Given the description of an element on the screen output the (x, y) to click on. 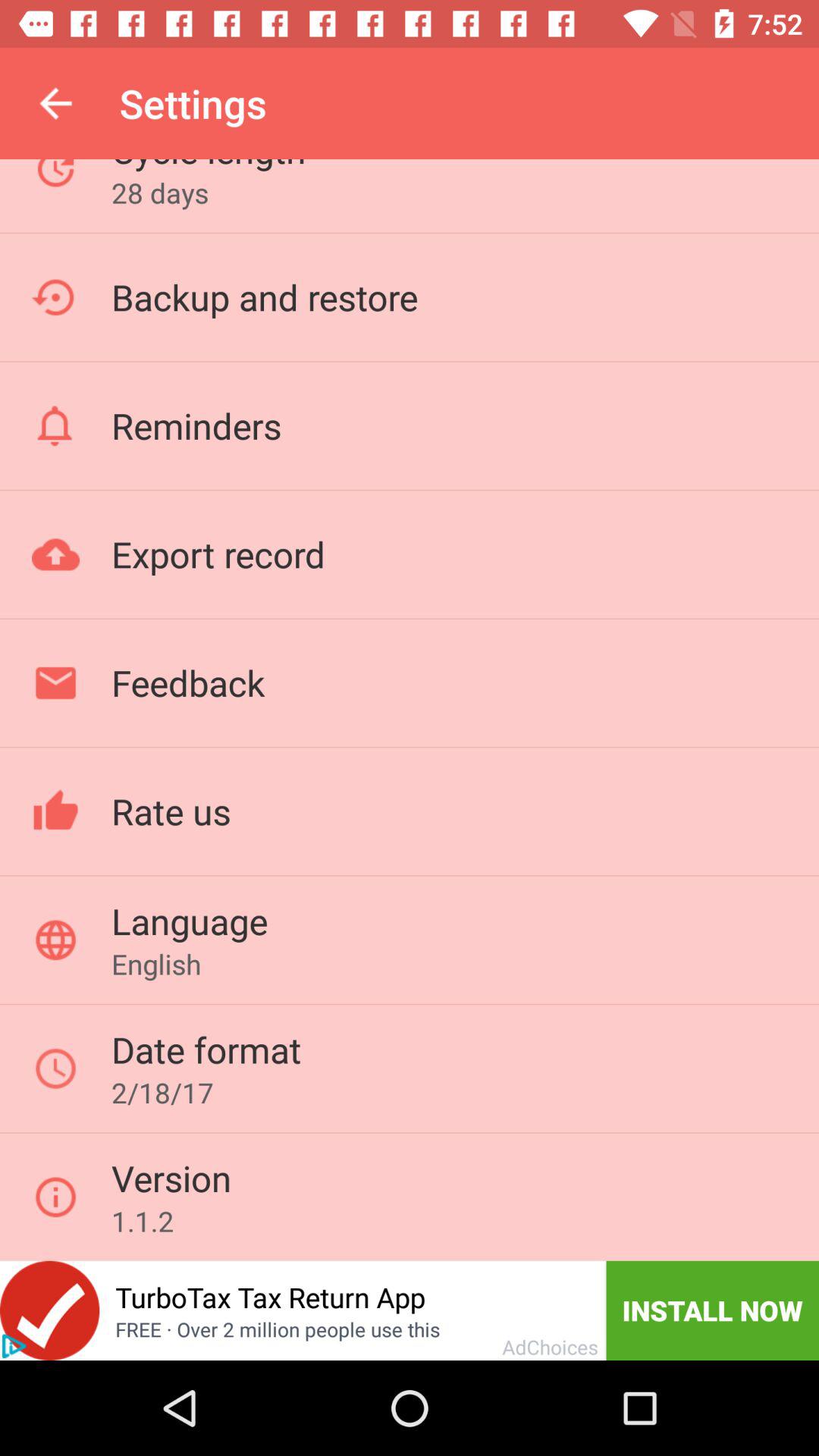
turn off app next to adchoices item (712, 1310)
